Given the description of an element on the screen output the (x, y) to click on. 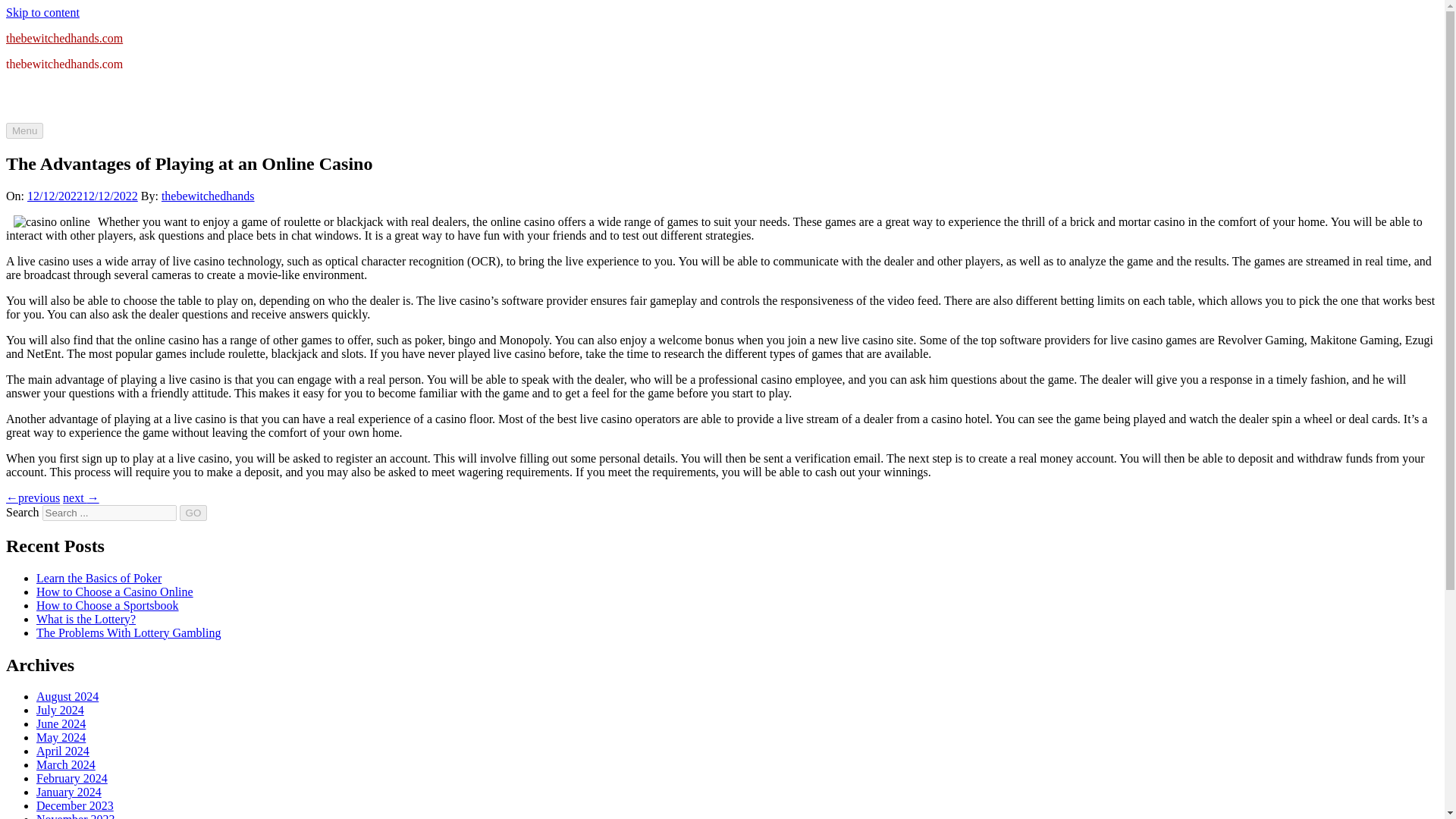
April 2024 (62, 750)
GO (193, 512)
May 2024 (60, 737)
GO (193, 512)
Learn the Basics of Poker (98, 577)
How to Choose a Casino Online (114, 591)
July 2024 (60, 709)
GO (193, 512)
How to Choose a Sportsbook (107, 604)
March 2024 (66, 764)
